Given the description of an element on the screen output the (x, y) to click on. 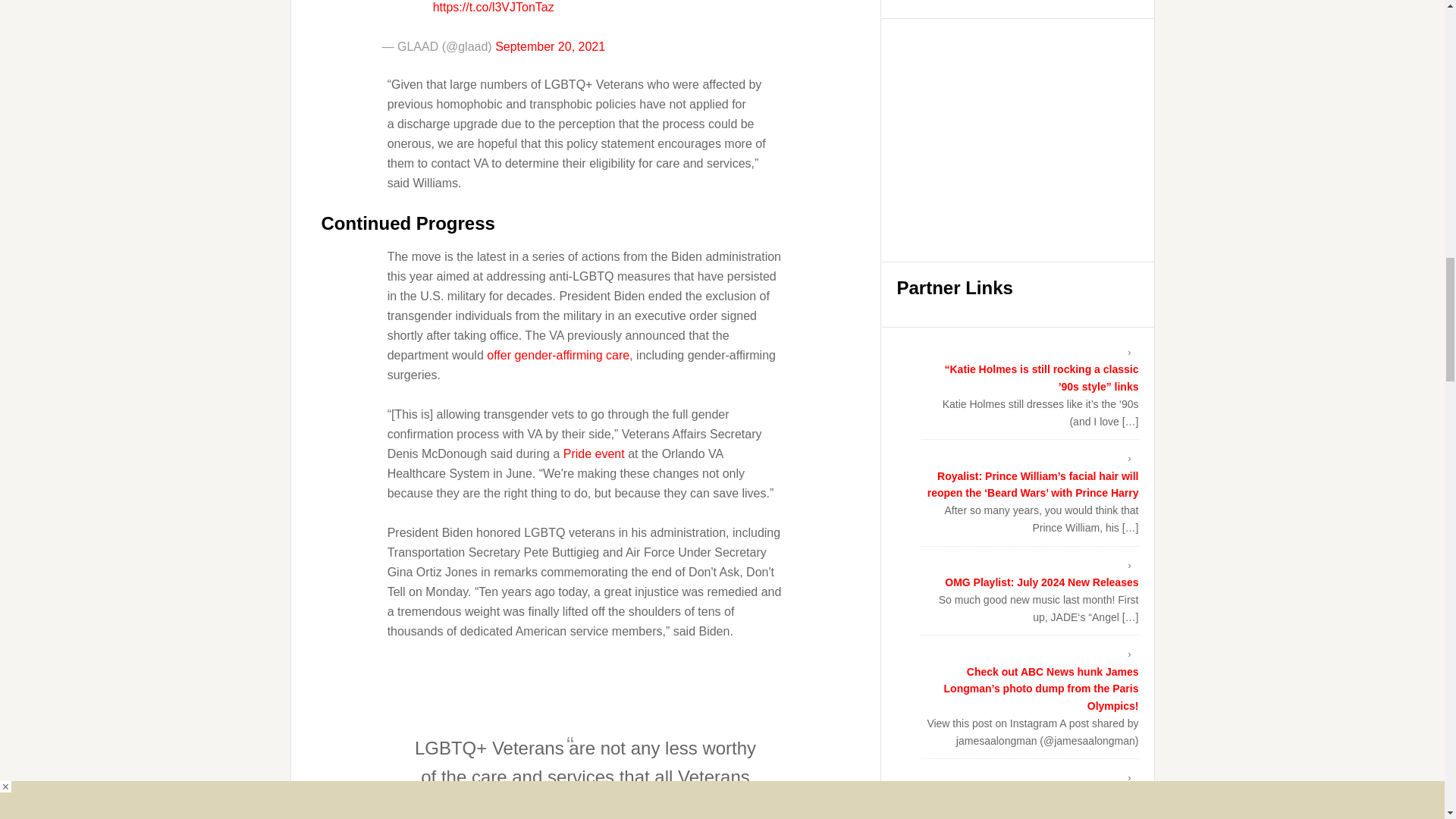
offer gender-affirming care (557, 354)
Pride event (593, 453)
September 20, 2021 (550, 46)
